Given the description of an element on the screen output the (x, y) to click on. 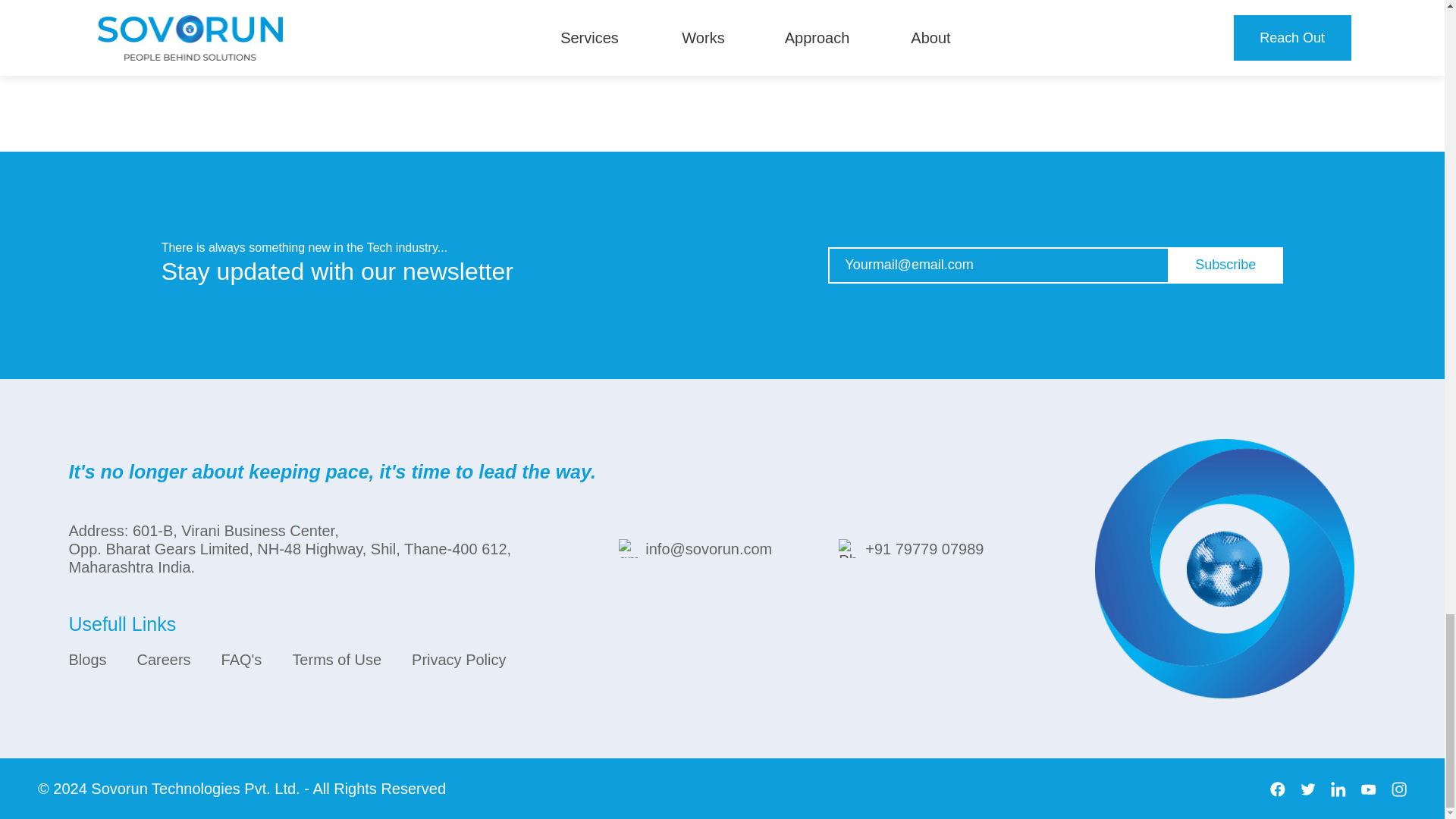
FAQ's (241, 659)
Terms of Use (336, 659)
Blogs (87, 659)
Subscribe (1224, 265)
Sovorun (119, 788)
Careers (163, 659)
Privacy Policy (458, 659)
